Given the description of an element on the screen output the (x, y) to click on. 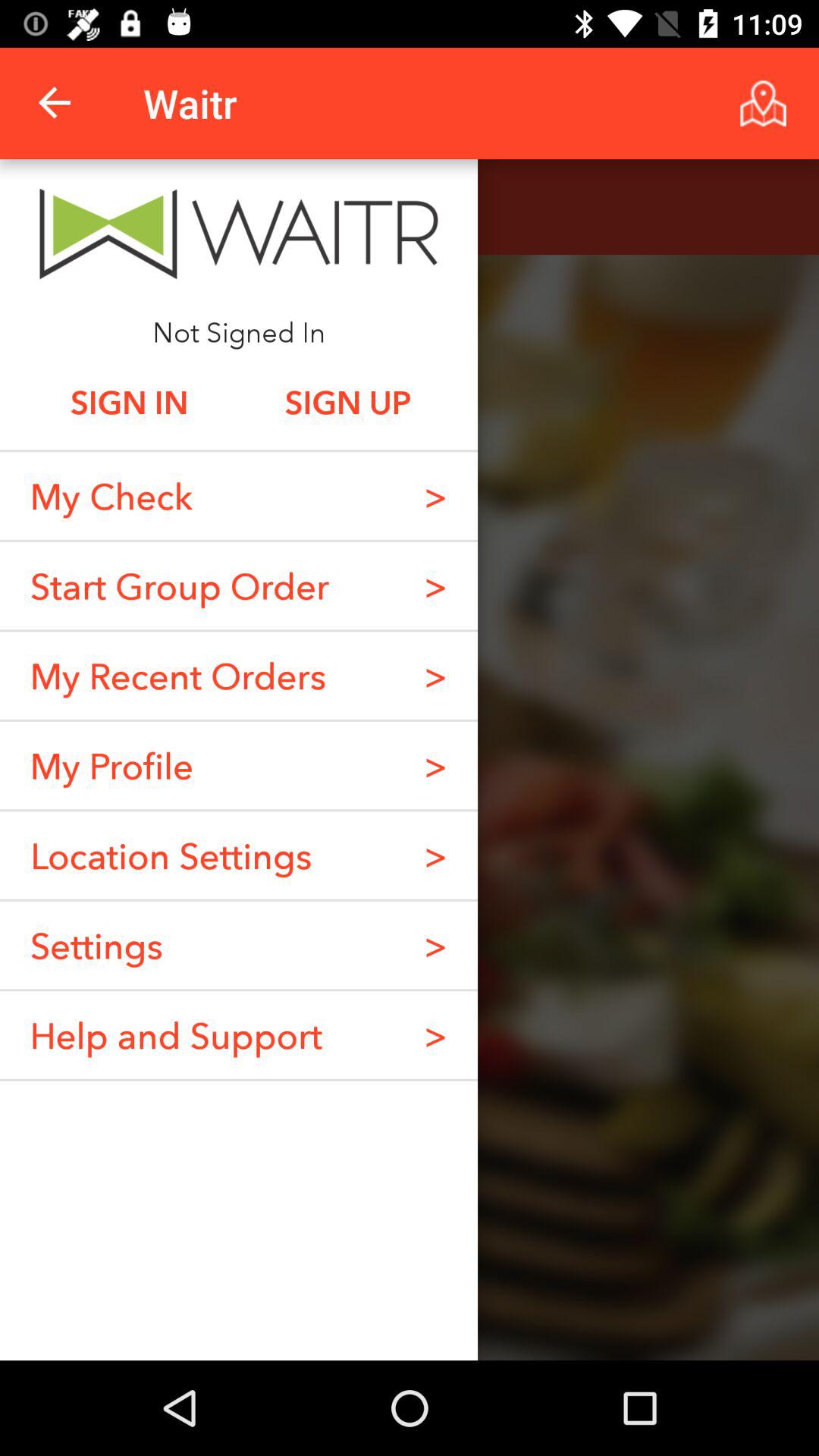
select item next to help and support item (435, 1034)
